Given the description of an element on the screen output the (x, y) to click on. 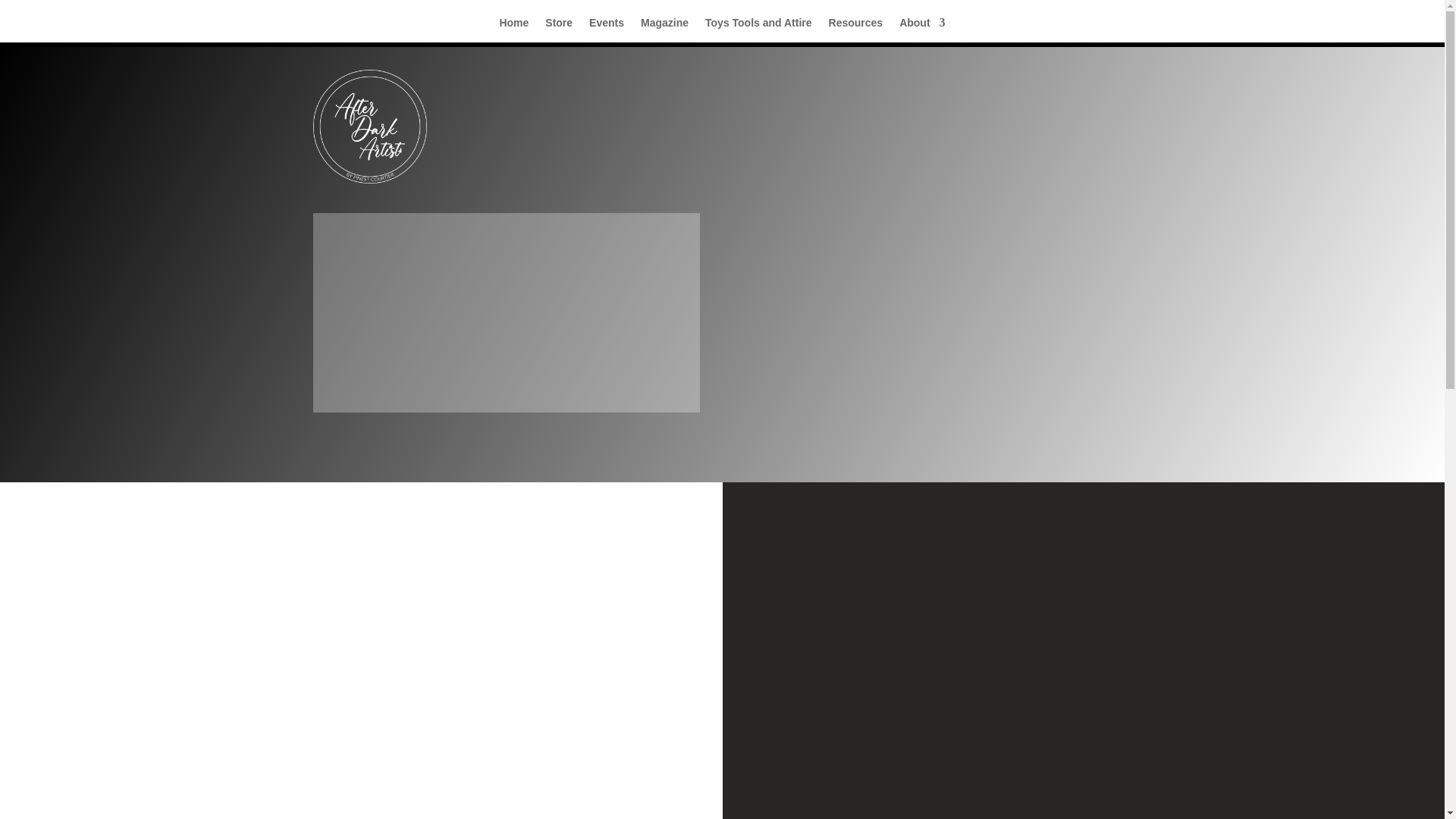
About (921, 25)
After dark Artist Circle logo white (369, 126)
Magazine (664, 25)
Toys Tools and Attire (758, 25)
Events (606, 25)
Home (513, 25)
Resources (855, 25)
Store (558, 25)
